Given the description of an element on the screen output the (x, y) to click on. 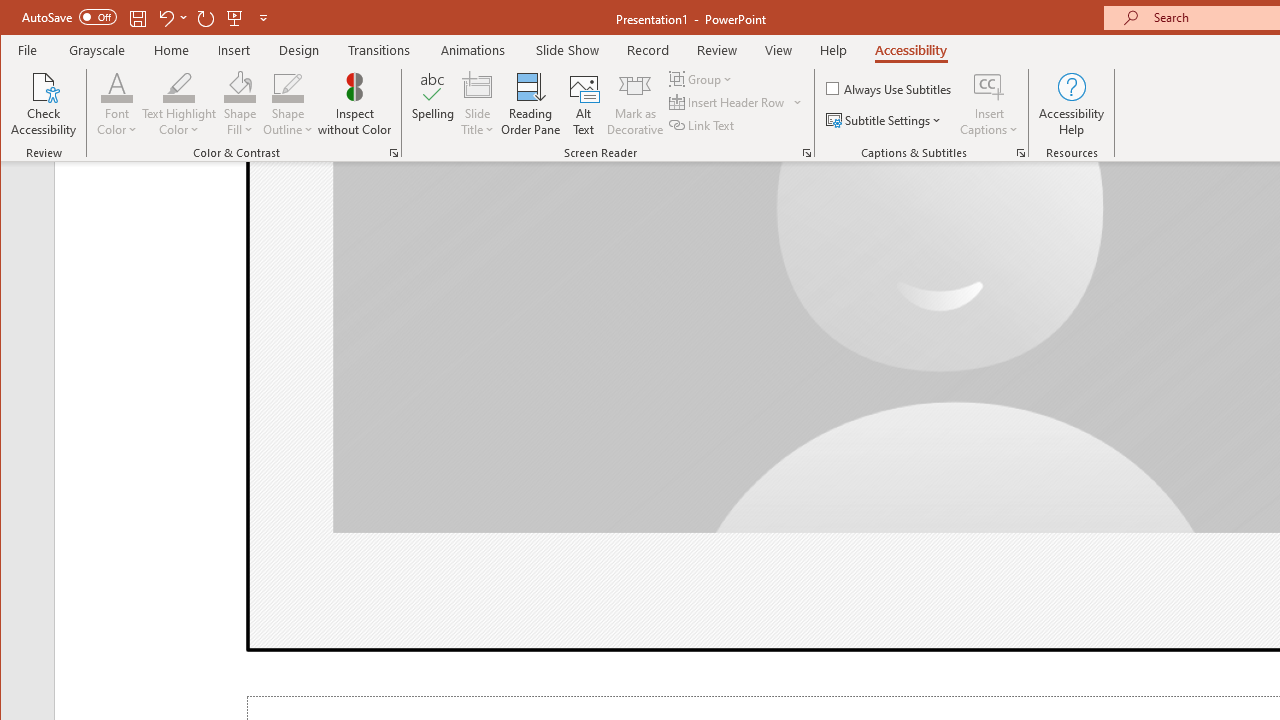
Slide Title (477, 86)
